Given the description of an element on the screen output the (x, y) to click on. 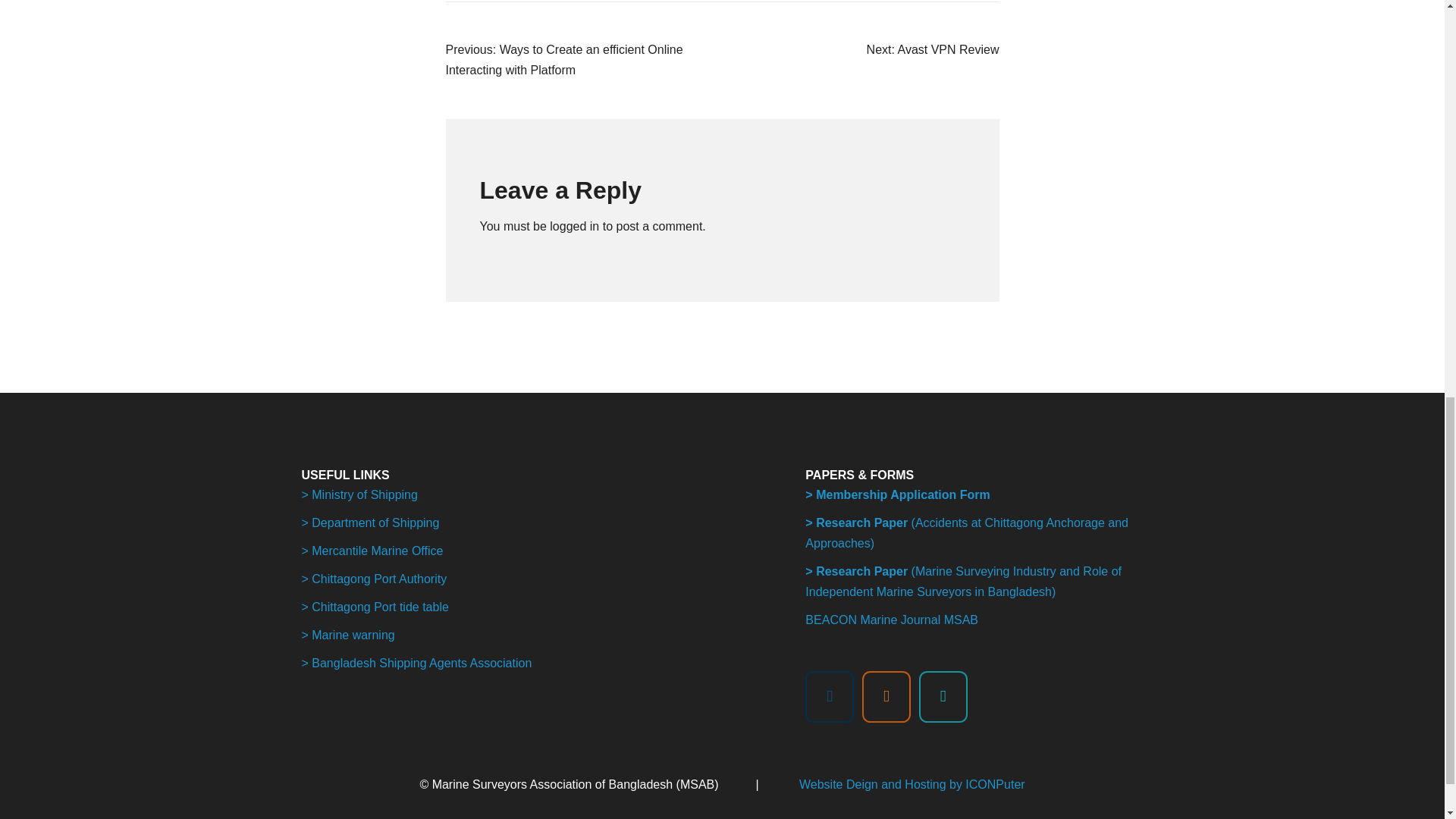
Marine Surveyors Association of Bangladesh on Facebook (829, 696)
Phone Marine Surveyors Association of Bangladesh (943, 696)
Marine Surveyors Association of Bangladesh on Envelope (886, 696)
Next: Avast VPN Review (932, 49)
logged in (574, 226)
